Given the description of an element on the screen output the (x, y) to click on. 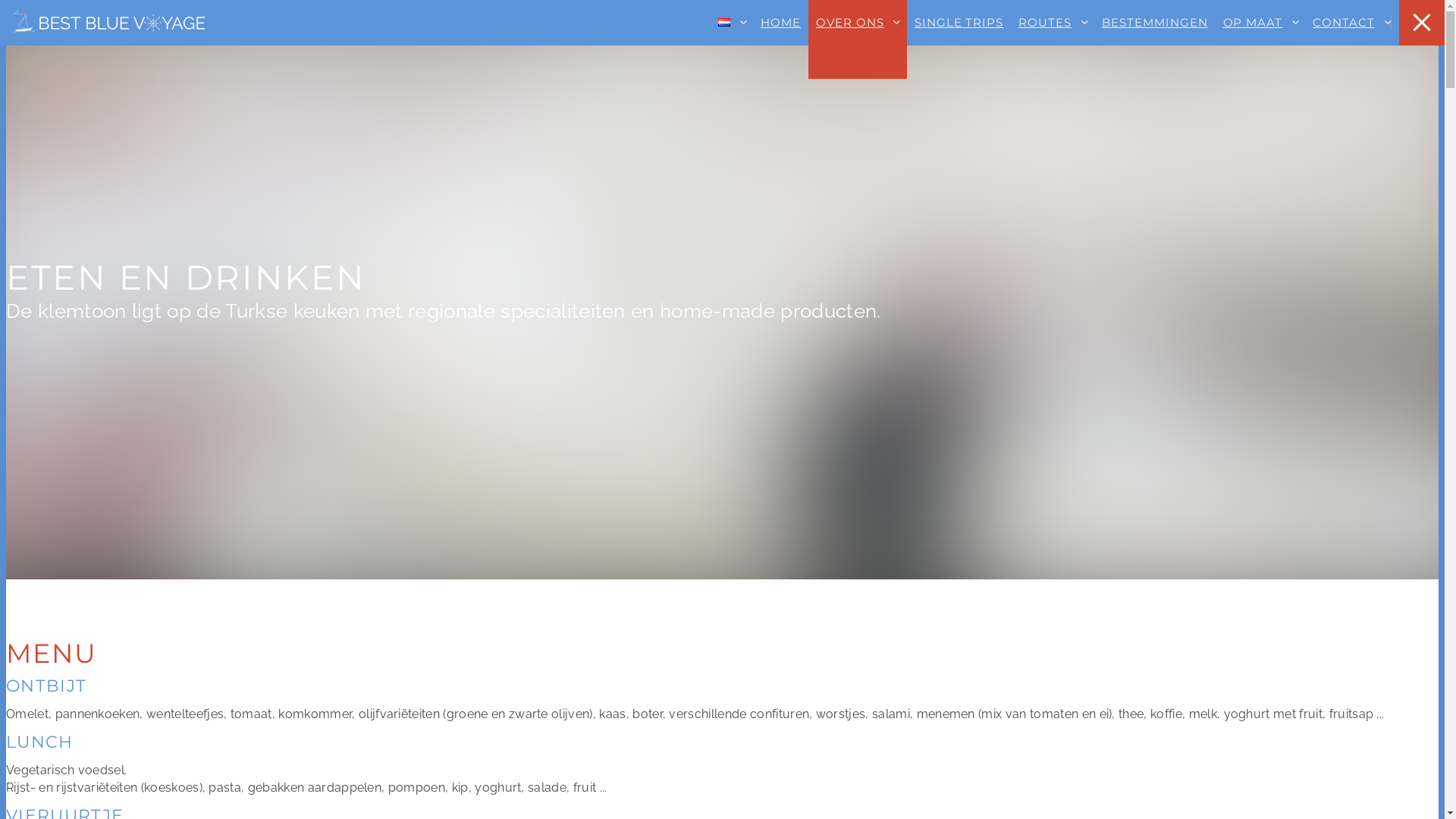
BESTEMMINGEN Element type: text (1154, 39)
HOME Element type: text (780, 39)
OVER ONS Element type: text (857, 39)
CONTACT Element type: text (1351, 39)
Best Blue Voyage Element type: text (108, 22)
Skip to the content Element type: text (721, 13)
ROUTES Element type: text (1052, 39)
SINGLE TRIPS Element type: text (958, 39)
OP MAAT Element type: text (1260, 39)
